Given the description of an element on the screen output the (x, y) to click on. 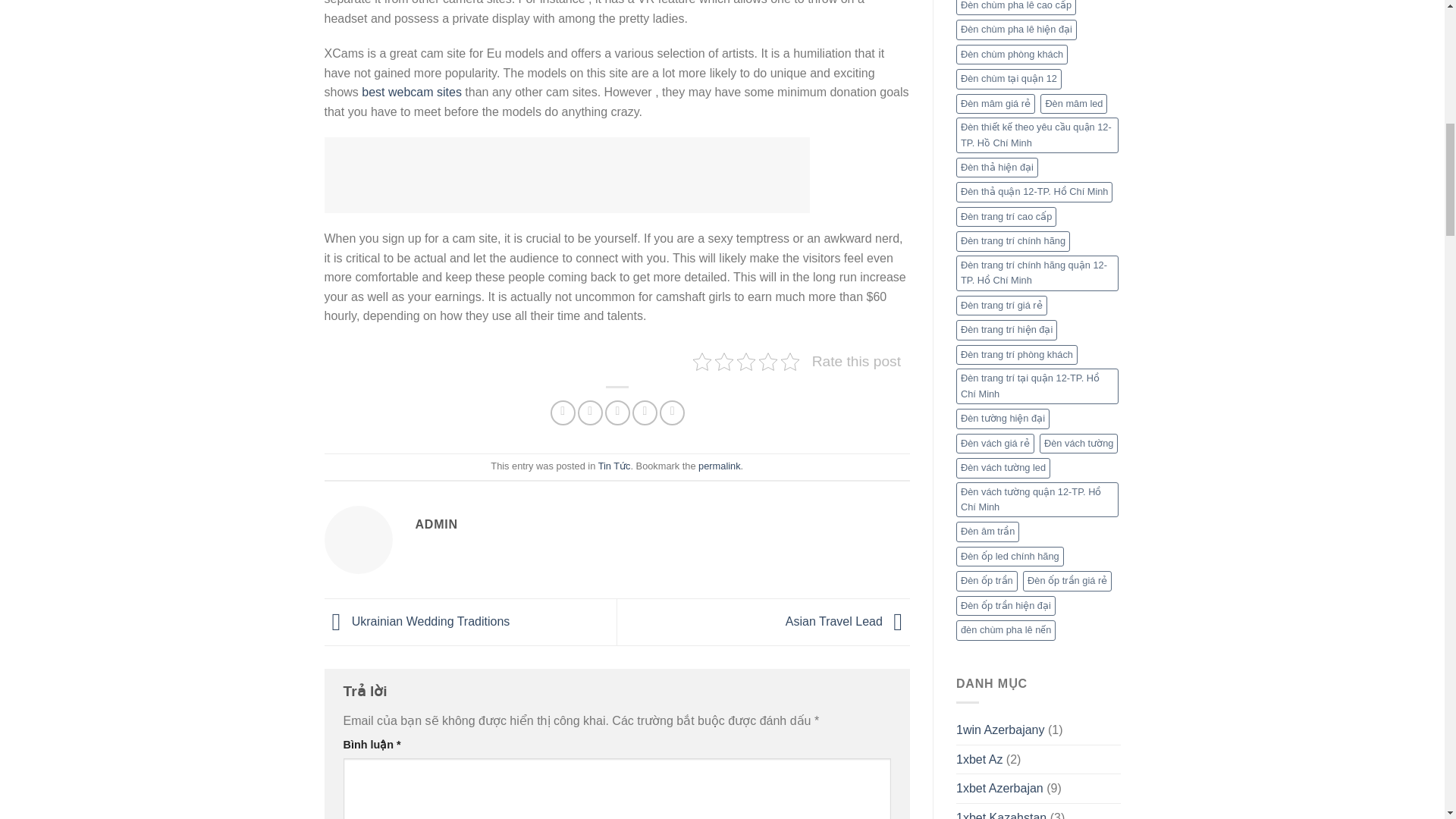
Pin on Pinterest (644, 412)
Email to a Friend (617, 412)
Permalink to Best Cam Shows (718, 465)
Share on LinkedIn (671, 412)
Share on Facebook (562, 412)
Share on Twitter (590, 412)
